Given the description of an element on the screen output the (x, y) to click on. 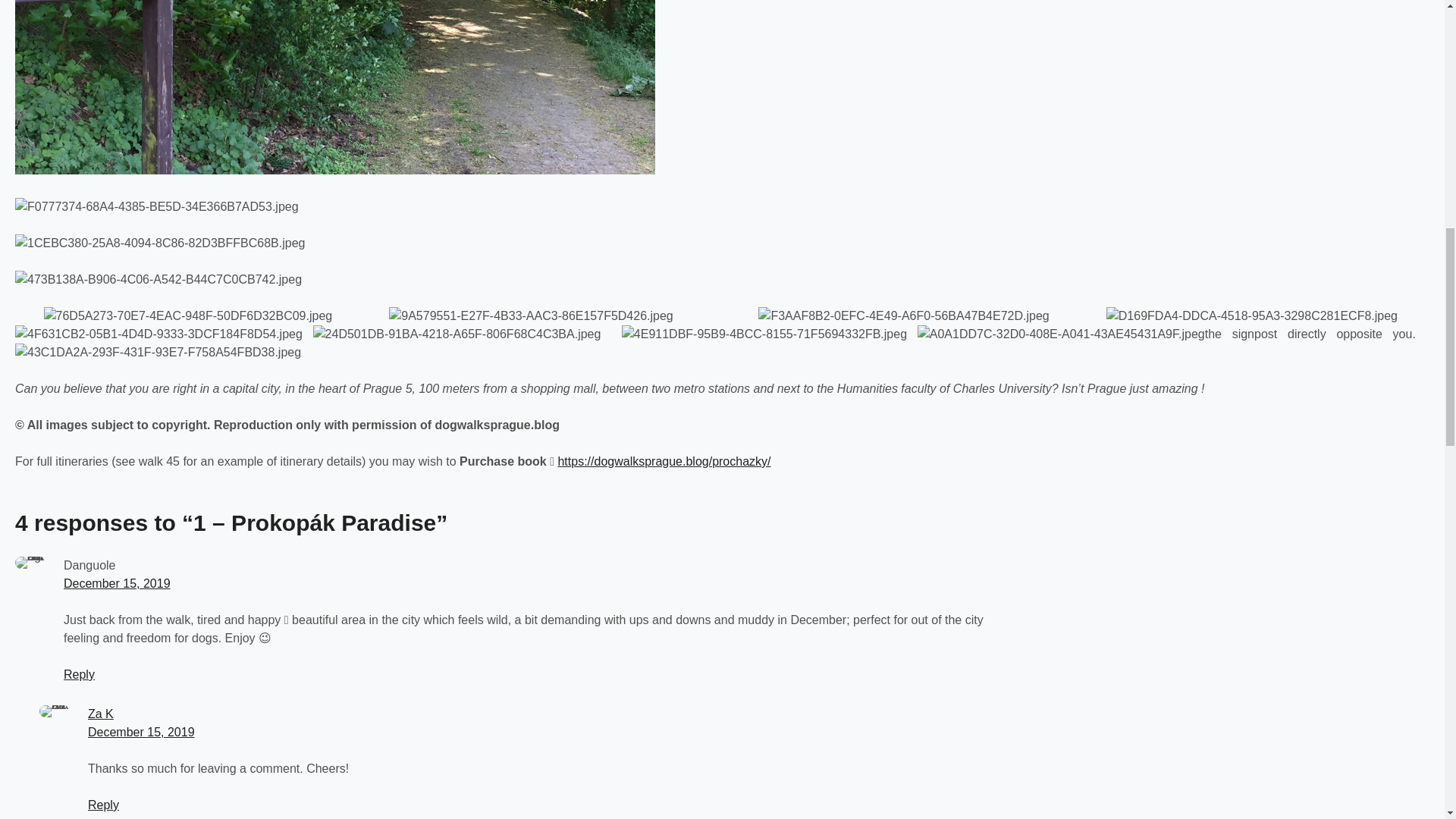
Reply (103, 804)
December 15, 2019 (117, 583)
Reply (79, 674)
Za K (100, 713)
December 15, 2019 (141, 731)
